Given the description of an element on the screen output the (x, y) to click on. 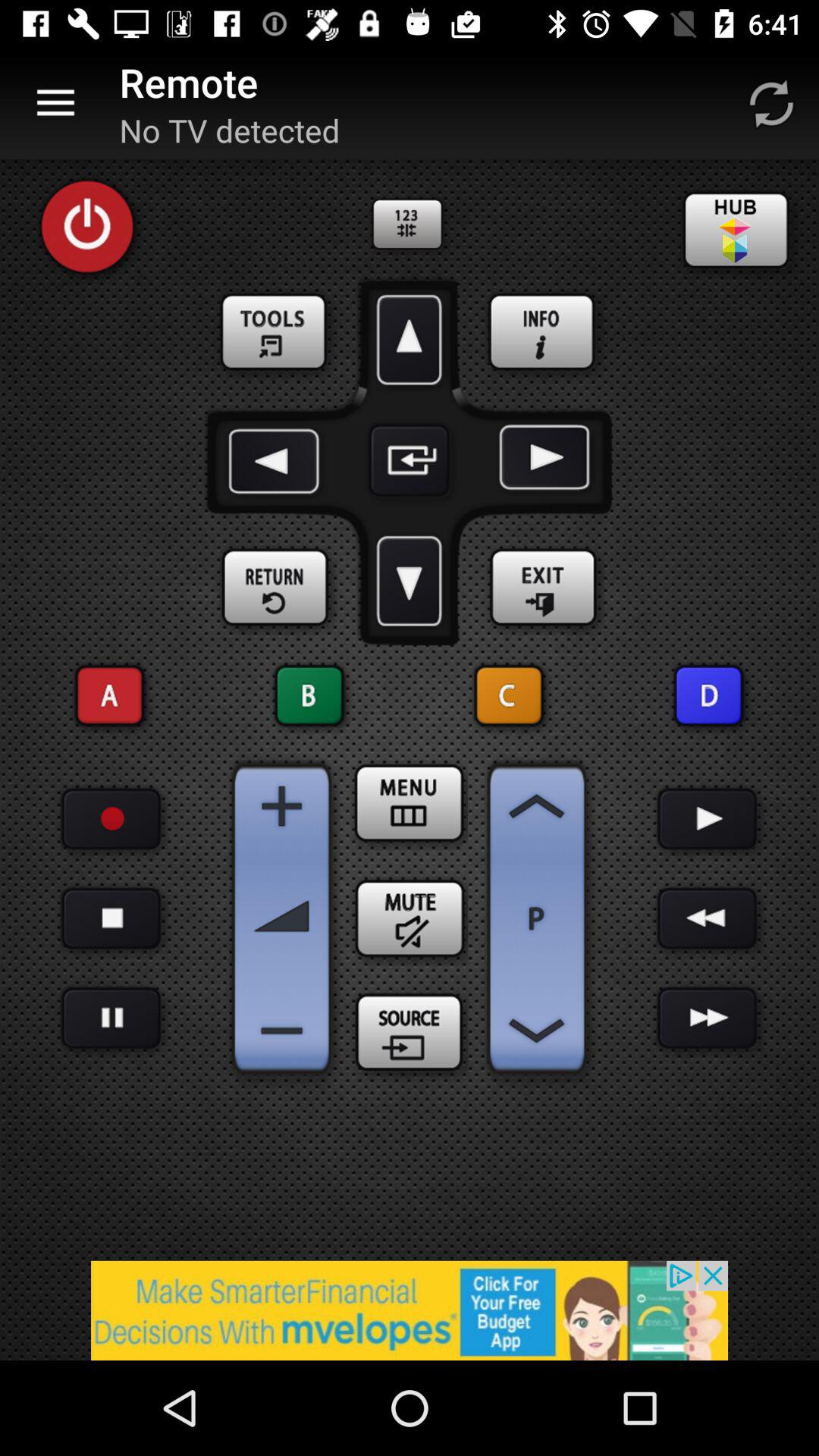
stop (111, 918)
